Given the description of an element on the screen output the (x, y) to click on. 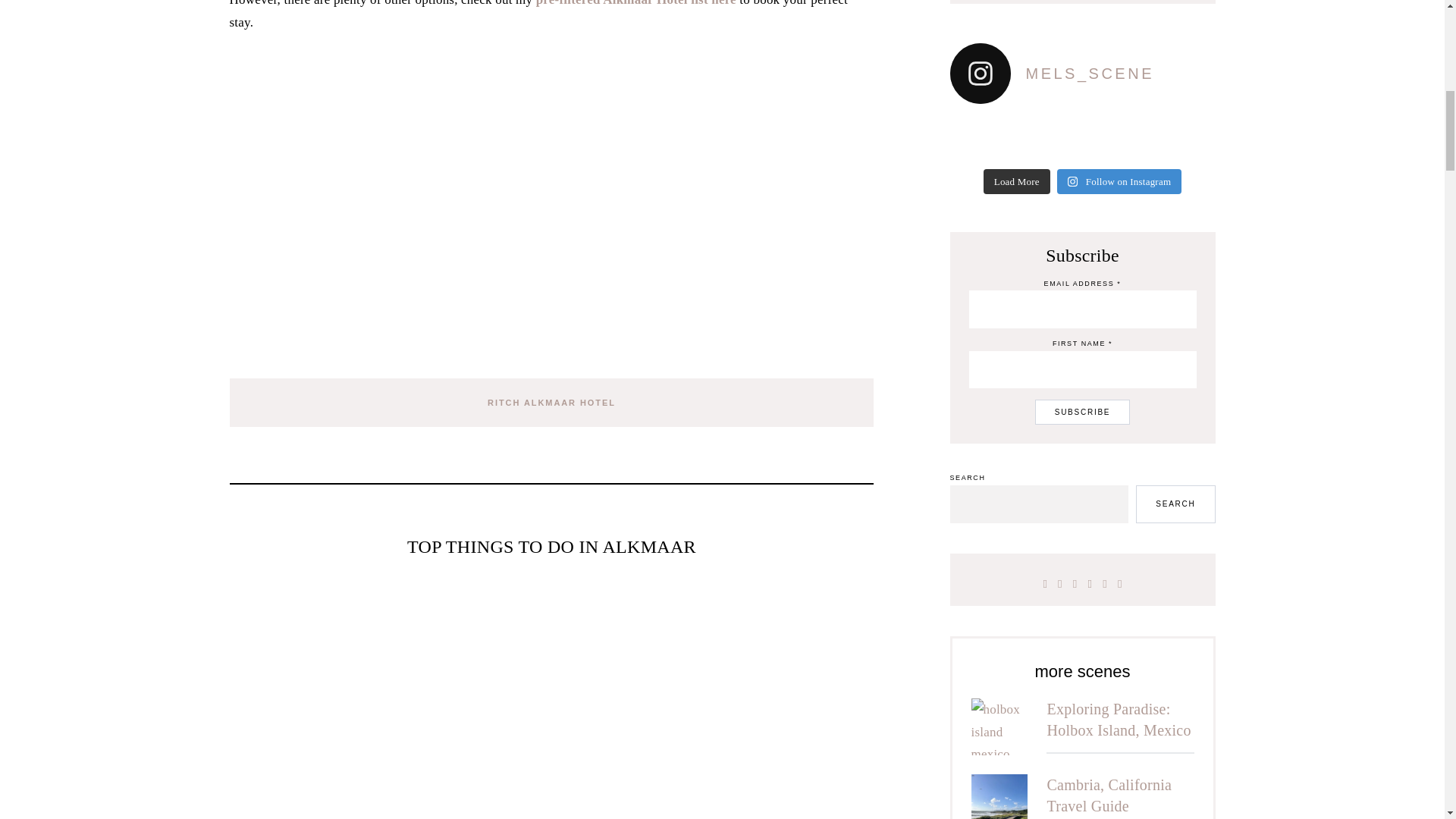
Subscribe (1083, 412)
